Given the description of an element on the screen output the (x, y) to click on. 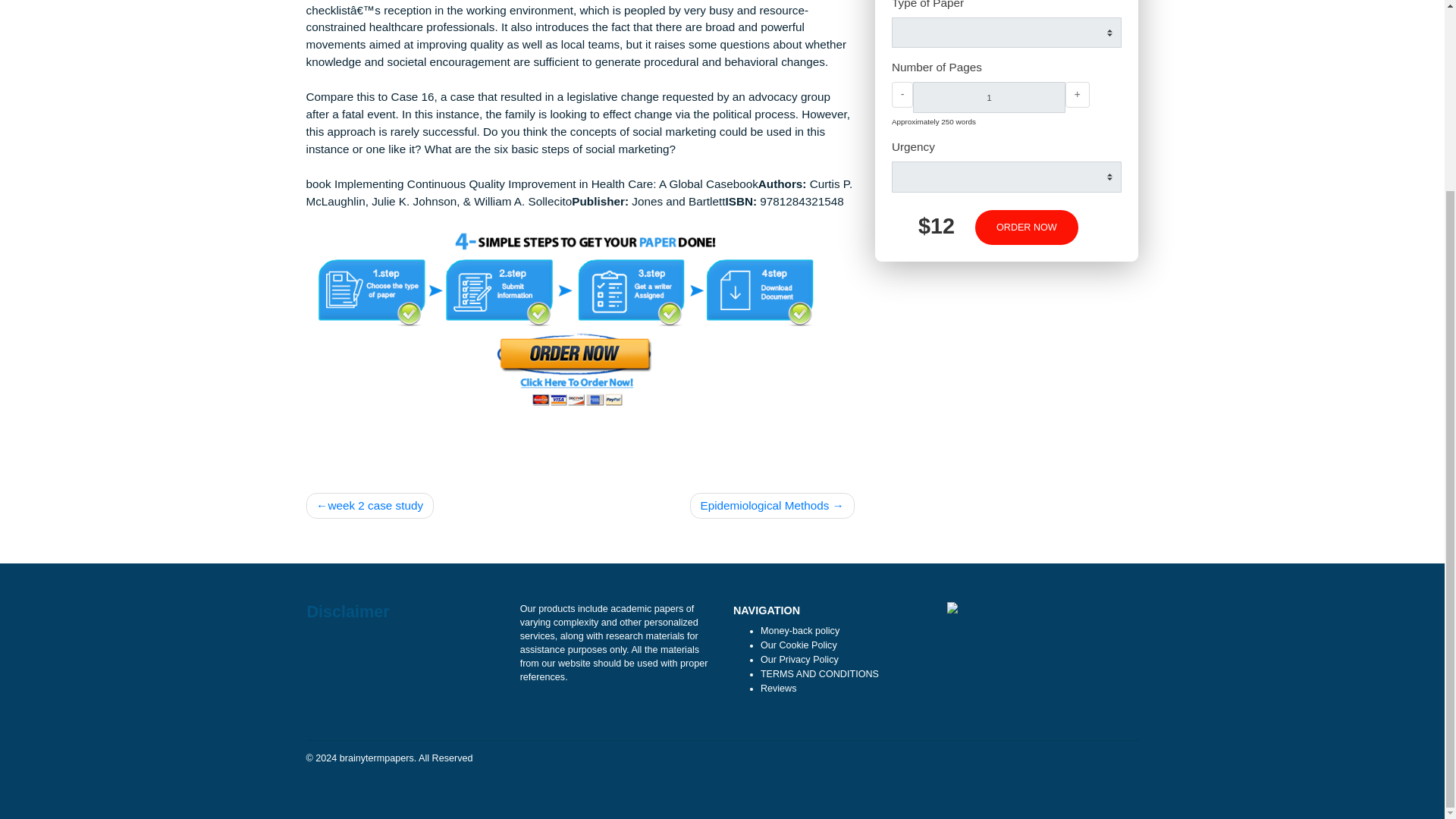
1 (1098, 134)
Our Privacy Policy (887, 759)
Our Cookie Policy (887, 743)
Epidemiological Methods (858, 588)
TERMS AND CONDITIONS (909, 775)
Money-back policy (888, 727)
ORDER NOW (1140, 279)
Reviews (864, 791)
week 2 case study (410, 588)
